Given the description of an element on the screen output the (x, y) to click on. 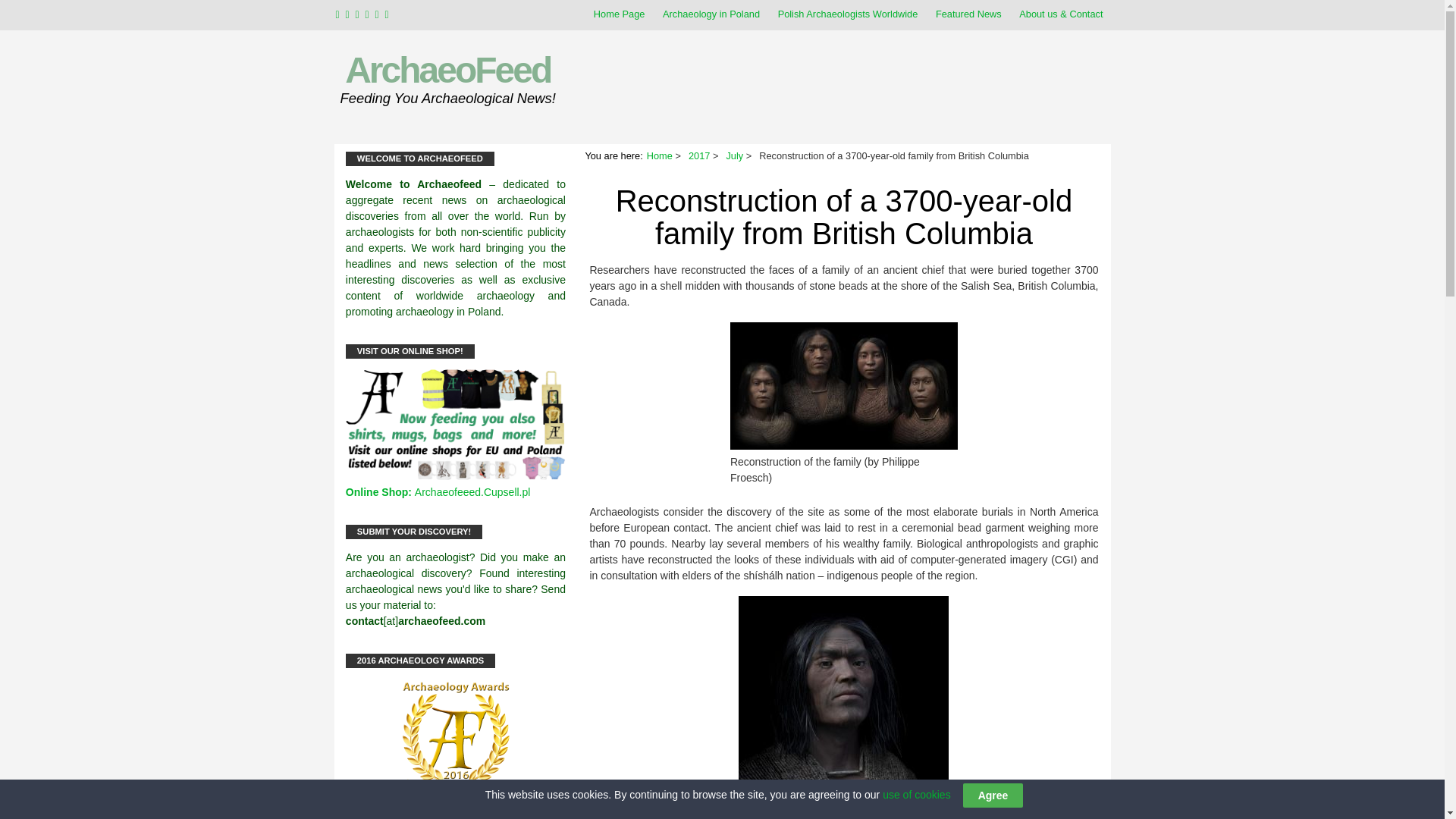
2017 (699, 155)
Polish Archaeologists Worldwide (848, 13)
Visit our online shop! (456, 476)
July (733, 155)
Home (659, 155)
Featured News (968, 13)
Archaeology in Poland (711, 13)
2016 Archaeology Awards (456, 735)
Home Page (619, 13)
ArchaeoFeed (447, 69)
